Given the description of an element on the screen output the (x, y) to click on. 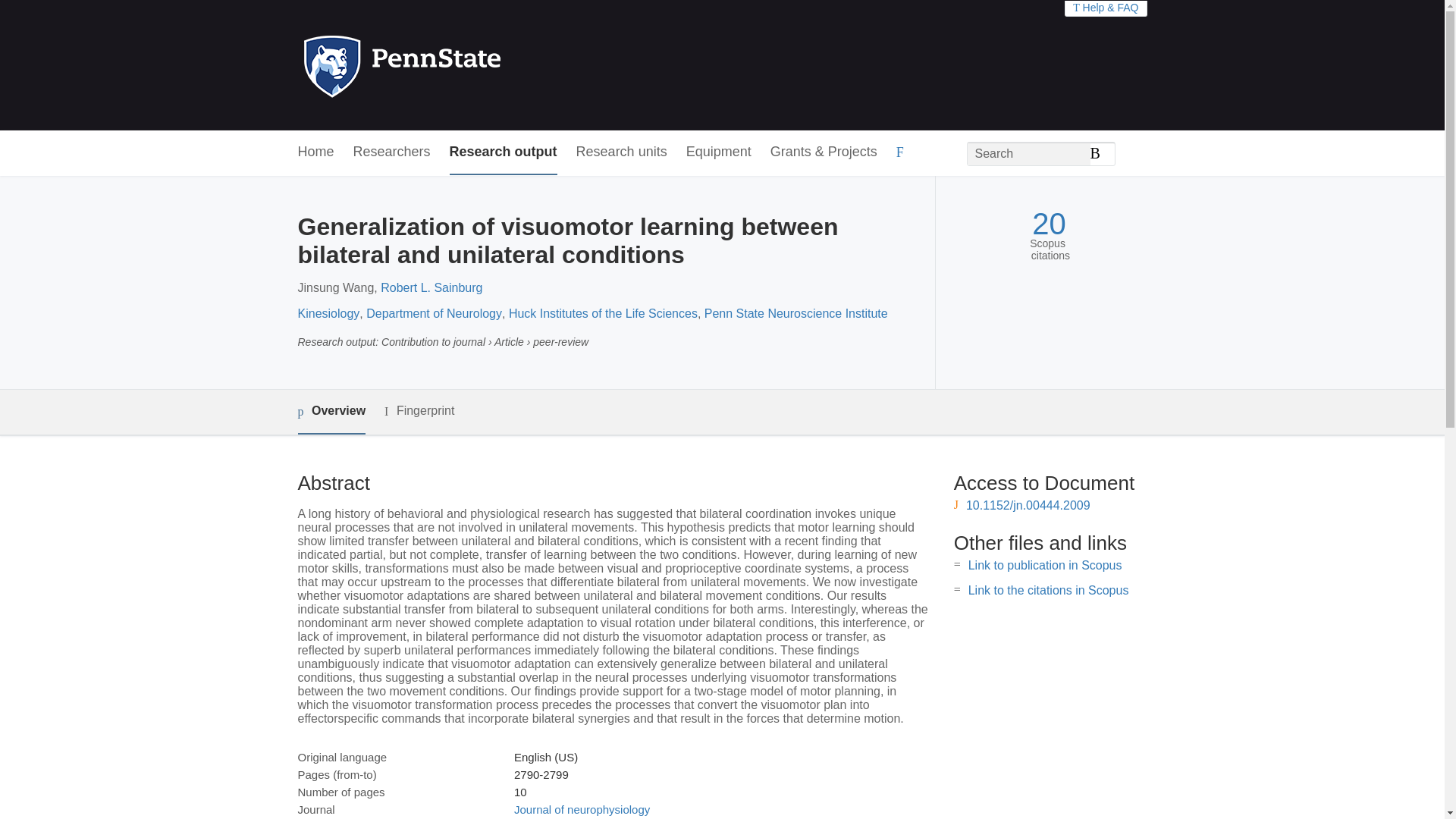
Penn State Home (467, 65)
Robert L. Sainburg (430, 287)
Home (315, 152)
Research output (503, 152)
Department of Neurology (434, 313)
Huck Institutes of the Life Sciences (602, 313)
Overview (331, 411)
Link to the citations in Scopus (1048, 590)
Researchers (391, 152)
Fingerprint (419, 411)
Research units (621, 152)
Kinesiology (328, 313)
Link to publication in Scopus (1045, 564)
Equipment (718, 152)
